Given the description of an element on the screen output the (x, y) to click on. 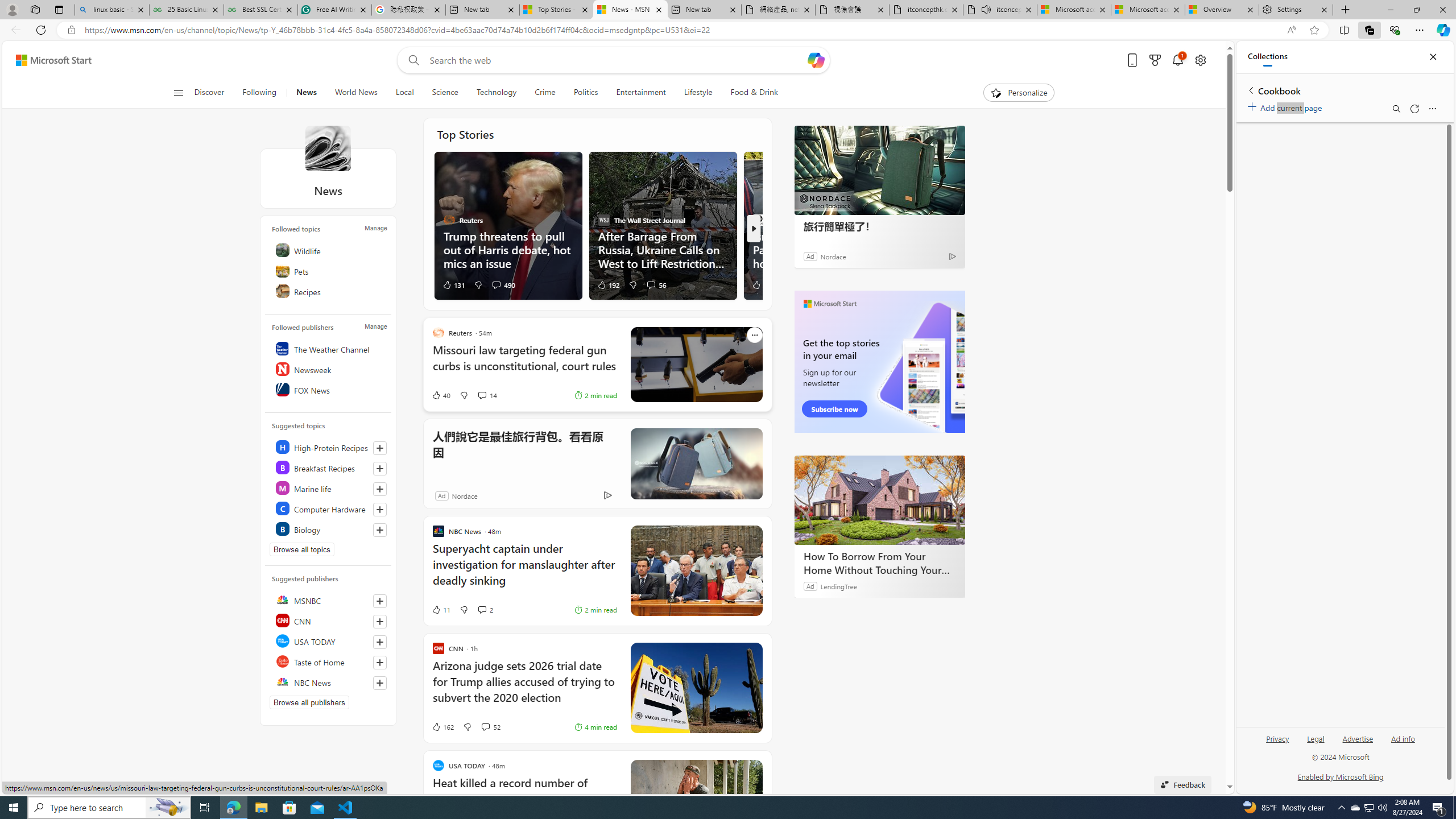
Wildlife (328, 249)
Newsweek (328, 369)
FOX News (328, 389)
The Weather Channel (328, 348)
